Given the description of an element on the screen output the (x, y) to click on. 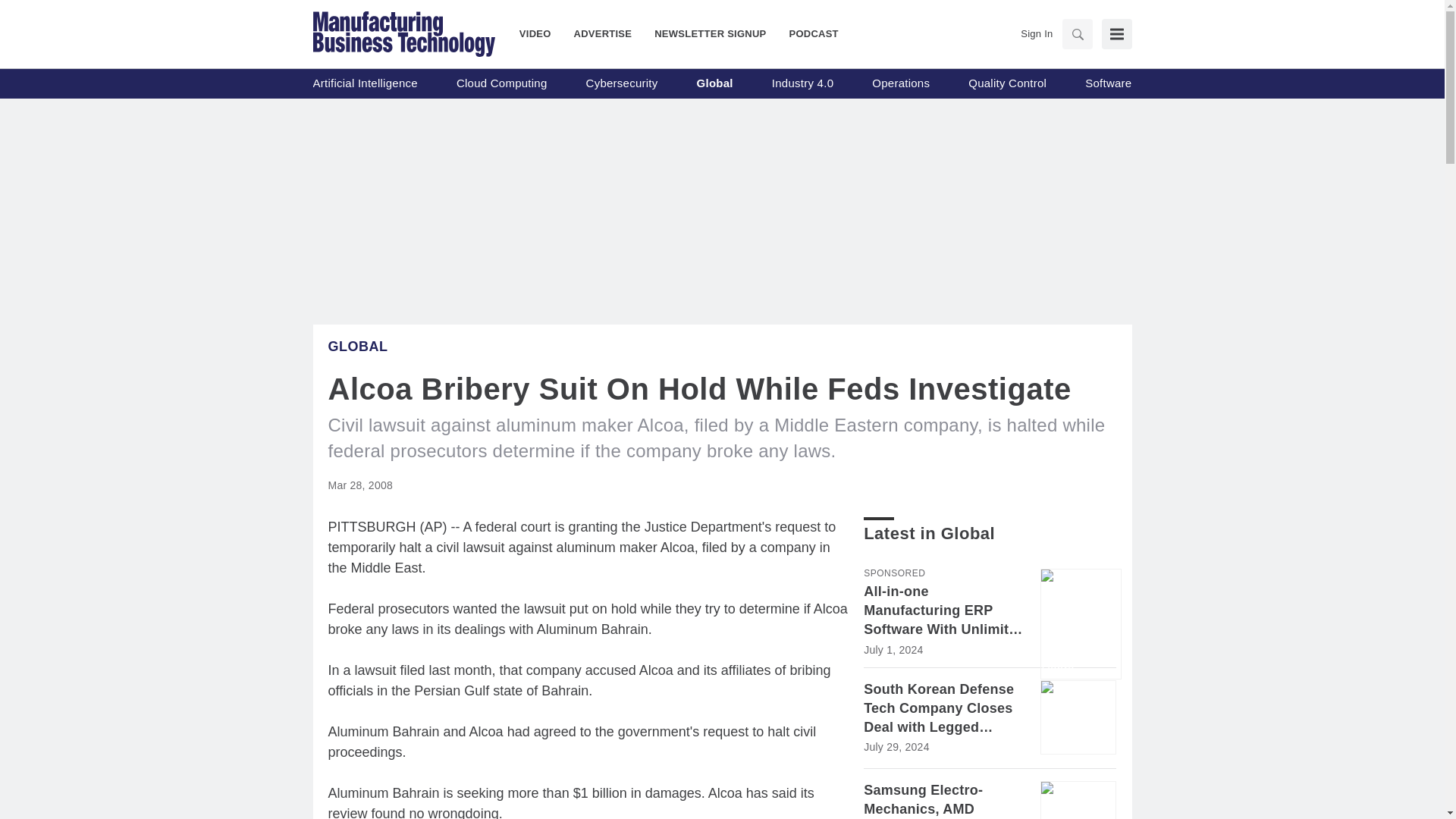
Industry 4.0 (801, 83)
Artificial Intelligence (364, 83)
NEWSLETTER SIGNUP (710, 33)
Global (357, 346)
Sign In (1036, 33)
Operations (901, 83)
VIDEO (540, 33)
ADVERTISE (602, 33)
Sponsored (893, 573)
Global (715, 83)
PODCAST (807, 33)
Software (1107, 83)
Quality Control (1007, 83)
Cloud Computing (502, 83)
Cybersecurity (622, 83)
